Given the description of an element on the screen output the (x, y) to click on. 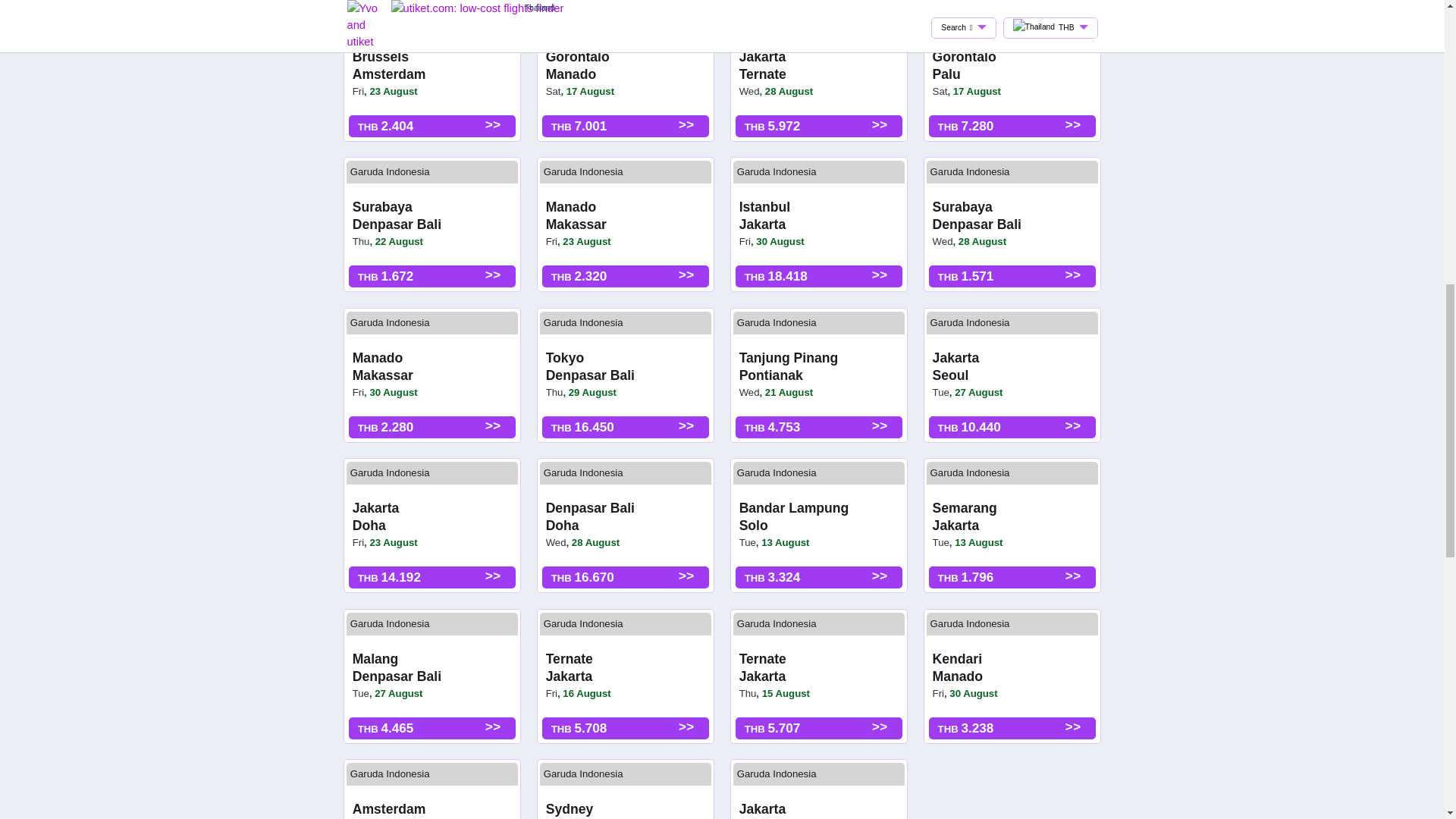
Promo Tickets Garuda Indonesia (583, 21)
Promo Tickets Garuda Indonesia (776, 171)
Promo Tickets Garuda Indonesia (970, 21)
Promo Tickets Garuda Indonesia (776, 21)
Promo Tickets Garuda Indonesia (583, 171)
Promo Tickets Garuda Indonesia (970, 171)
Promo Tickets Garuda Indonesia (389, 21)
Promo Tickets Garuda Indonesia (389, 171)
